Given the description of an element on the screen output the (x, y) to click on. 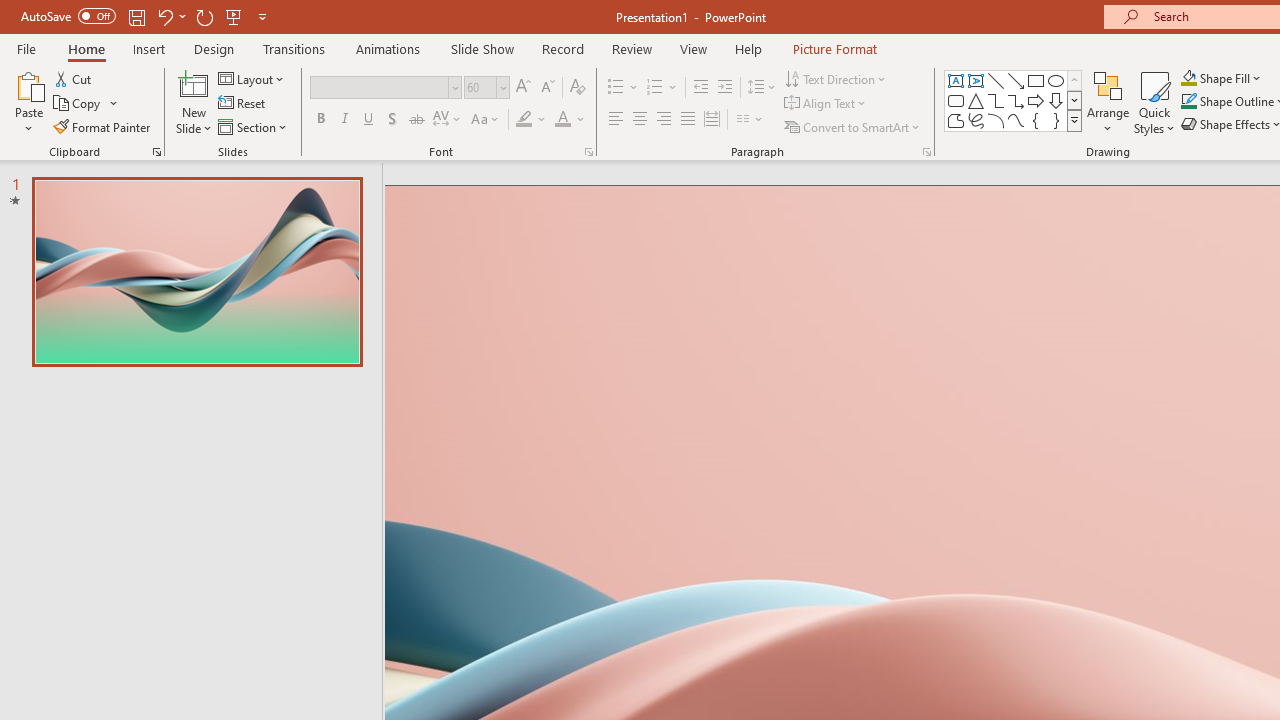
Font Color (569, 119)
View (693, 48)
Copy (85, 103)
Design (214, 48)
Font (379, 87)
Paste (28, 84)
Shape Fill (1221, 78)
More Options (1232, 78)
Reset (243, 103)
Shapes (1074, 120)
Character Spacing (447, 119)
Line (995, 80)
Bold (320, 119)
System (10, 11)
Left Brace (1035, 120)
